Given the description of an element on the screen output the (x, y) to click on. 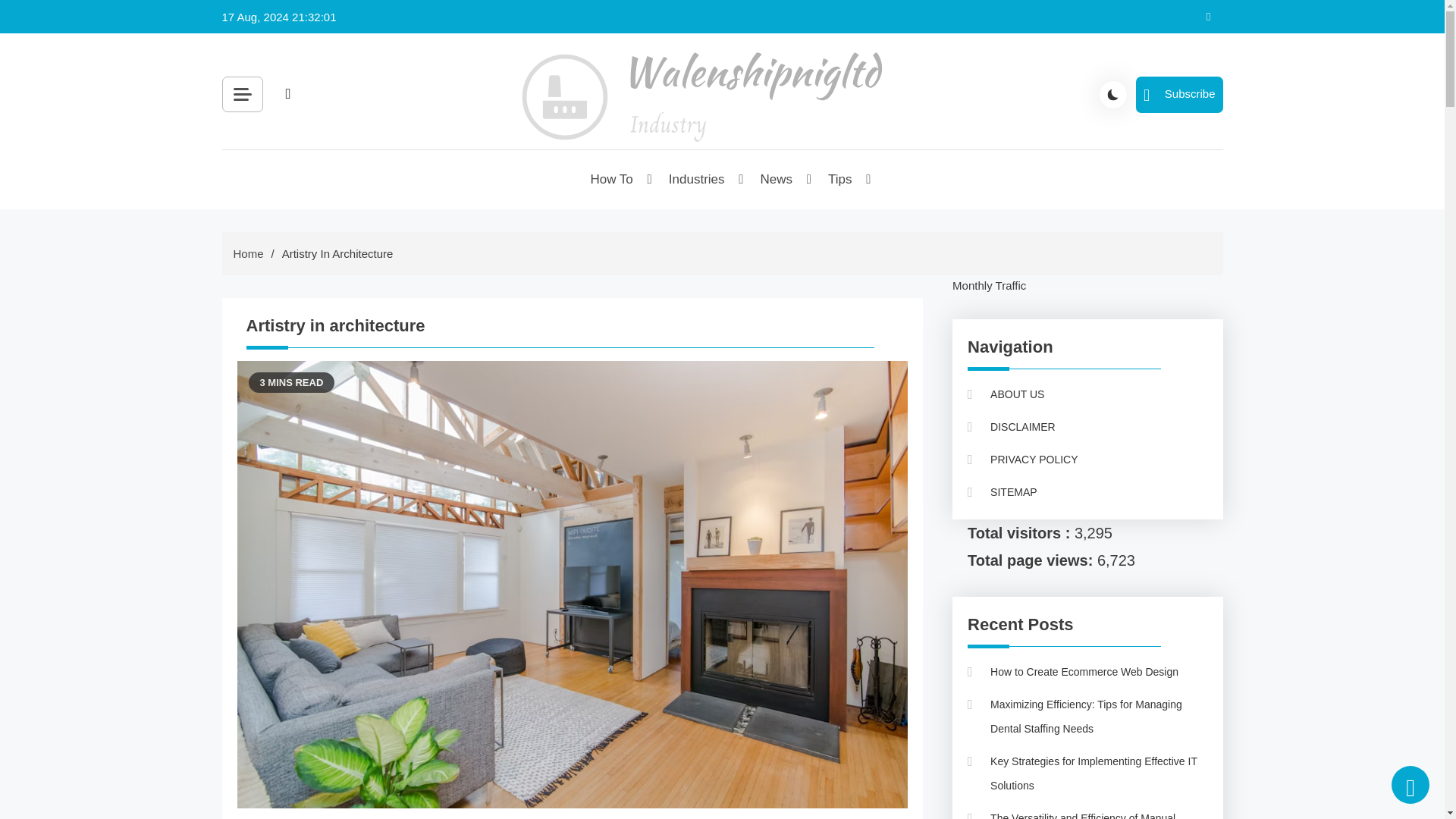
News (778, 179)
Industries (698, 179)
Subscribe (1179, 94)
How To (611, 179)
Tips (840, 179)
site mode button (1112, 93)
Home (247, 253)
Search (458, 128)
Walenshipnigltd (608, 169)
